Given the description of an element on the screen output the (x, y) to click on. 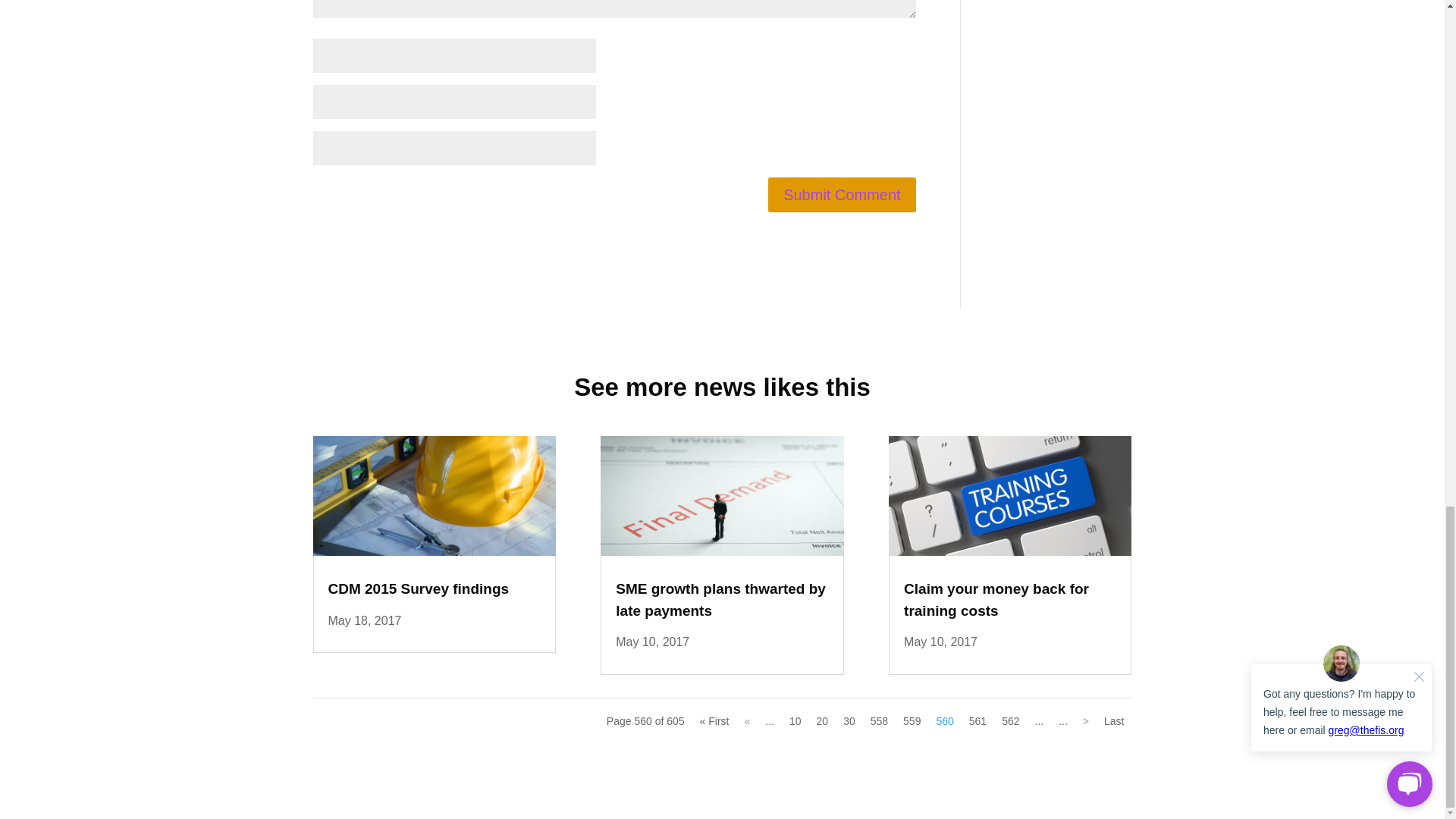
Page 558 (878, 720)
Page 562 (1010, 720)
Page 561 (977, 720)
Page 559 (911, 720)
Page 30 (849, 720)
Page 20 (822, 720)
Page 10 (795, 720)
Submit Comment (841, 194)
